Given the description of an element on the screen output the (x, y) to click on. 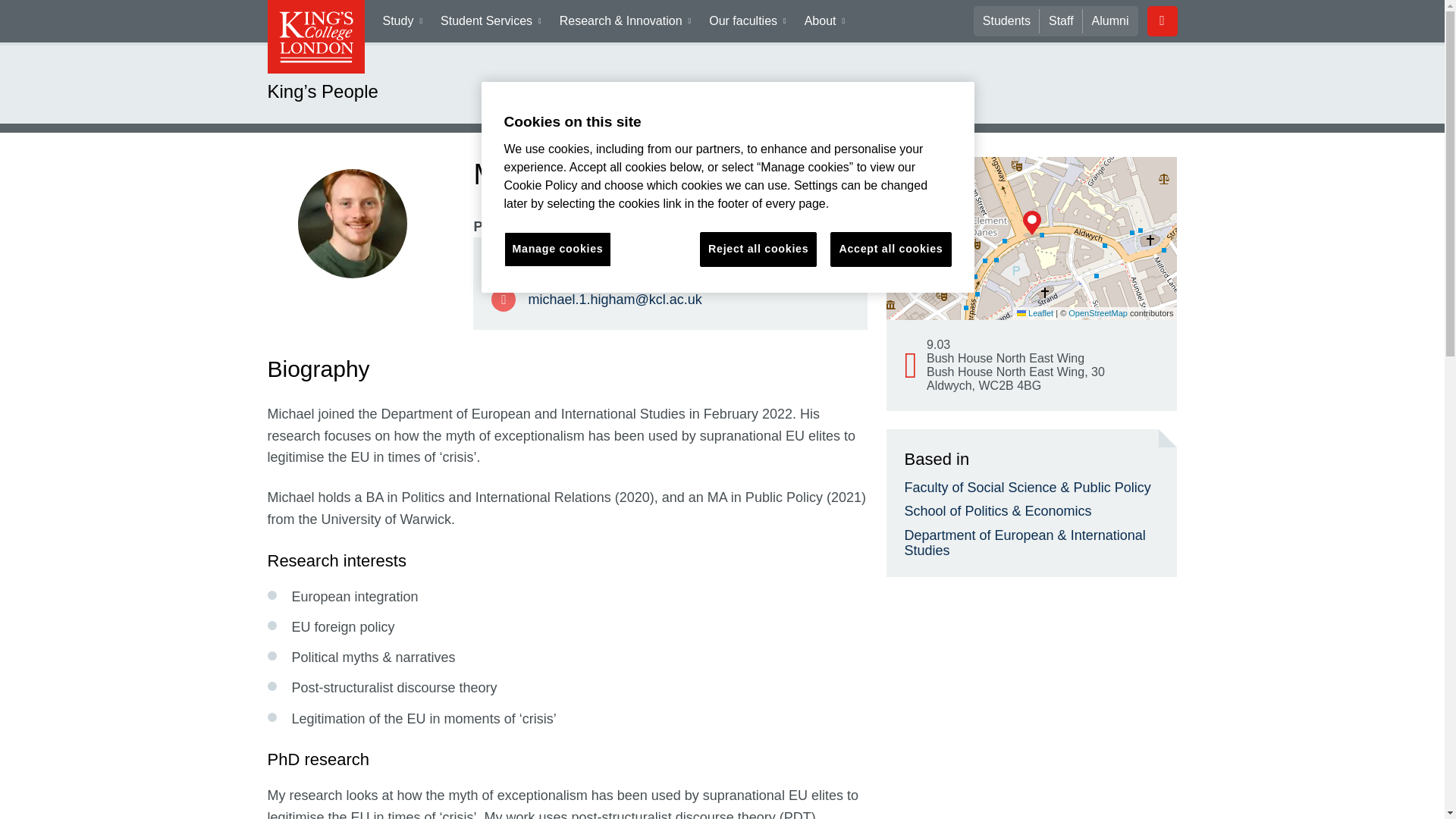
Zoom in (906, 177)
Zoom out (906, 200)
A JavaScript library for interactive maps (1034, 312)
